Given the description of an element on the screen output the (x, y) to click on. 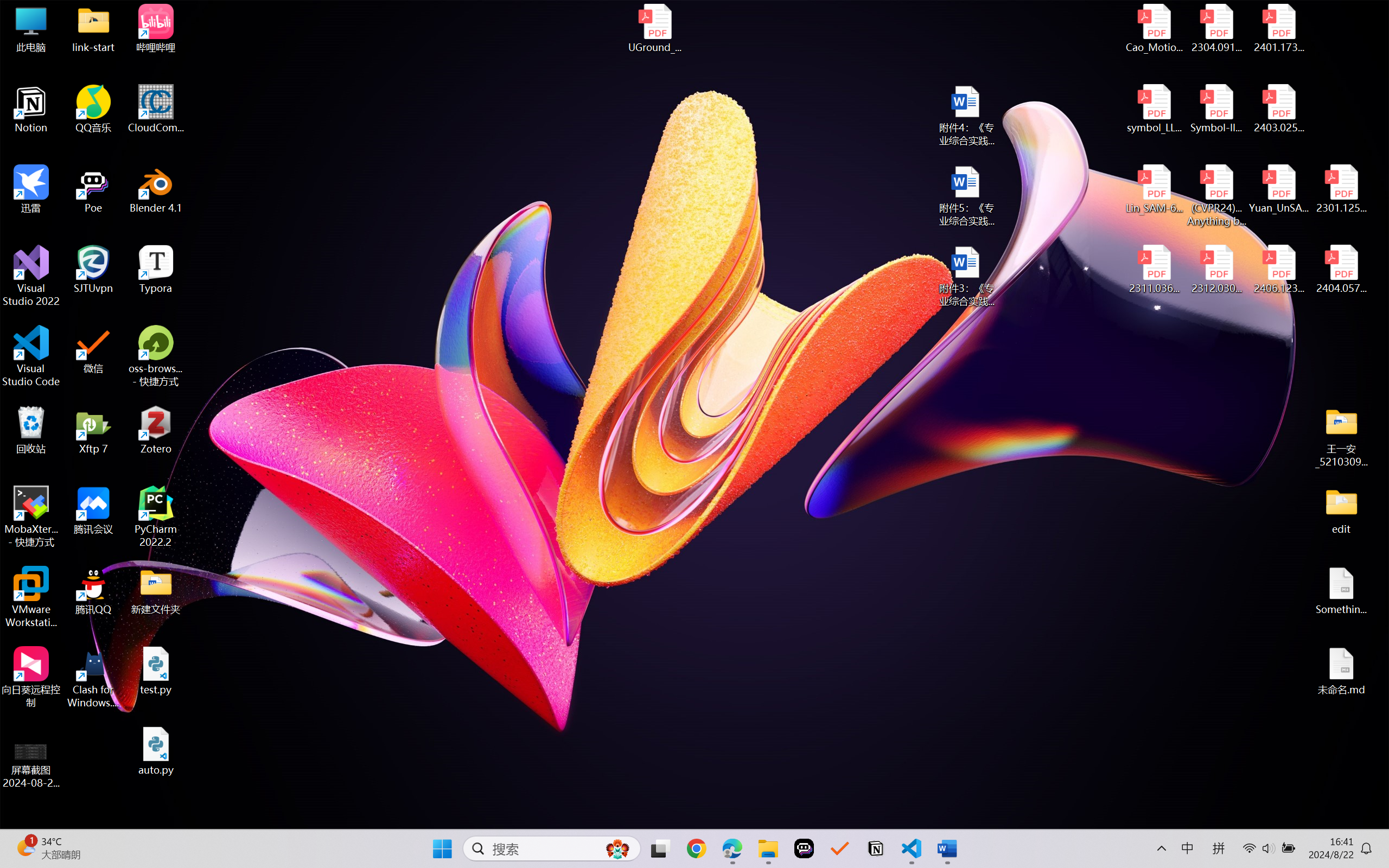
VMware Workstation Pro (31, 597)
SJTUvpn (93, 269)
test.py (156, 670)
Visual Studio Code (31, 355)
2406.12373v2.pdf (1278, 269)
edit (1340, 510)
